Given the description of an element on the screen output the (x, y) to click on. 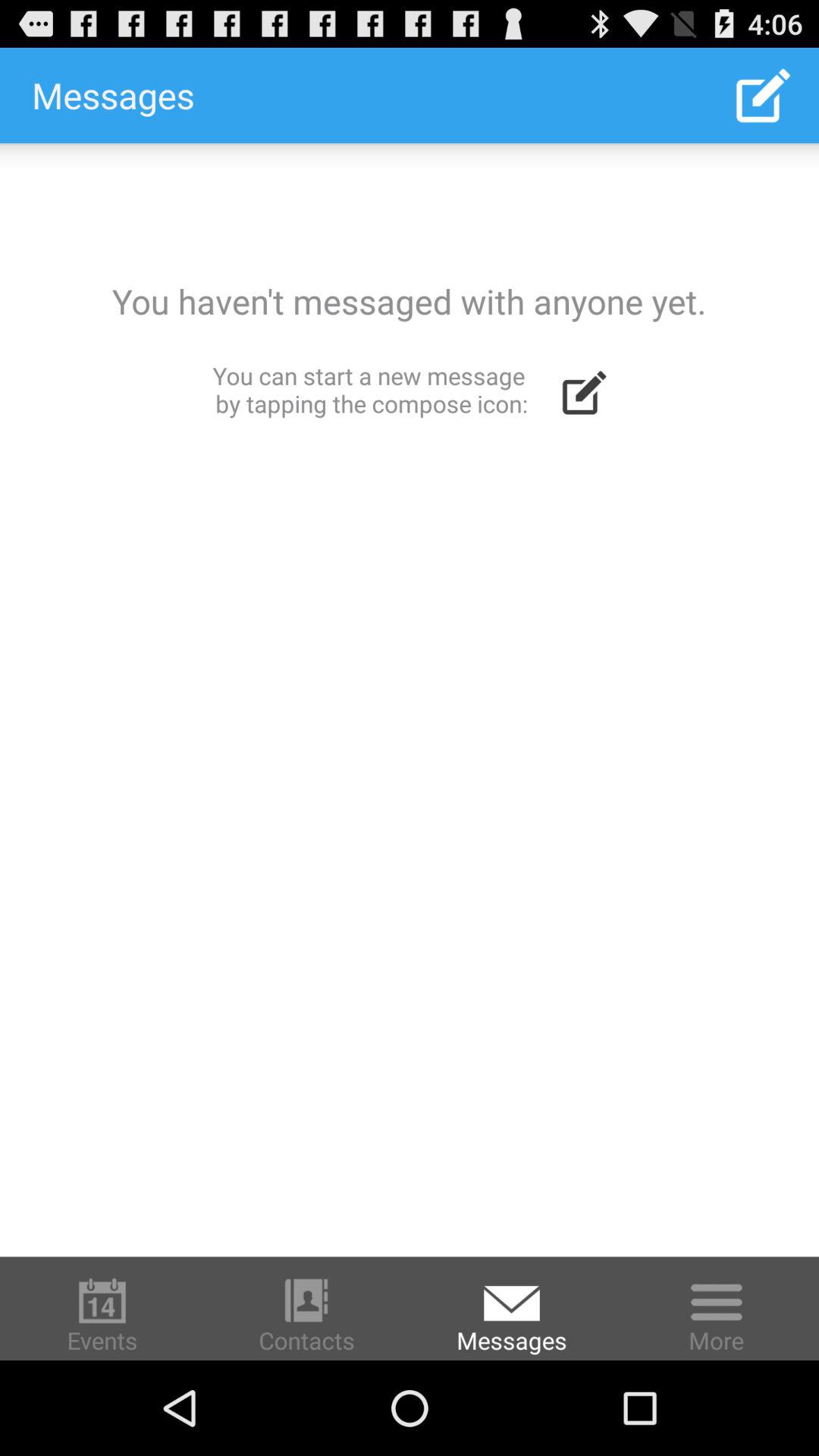
empty message inbox (409, 699)
